Given the description of an element on the screen output the (x, y) to click on. 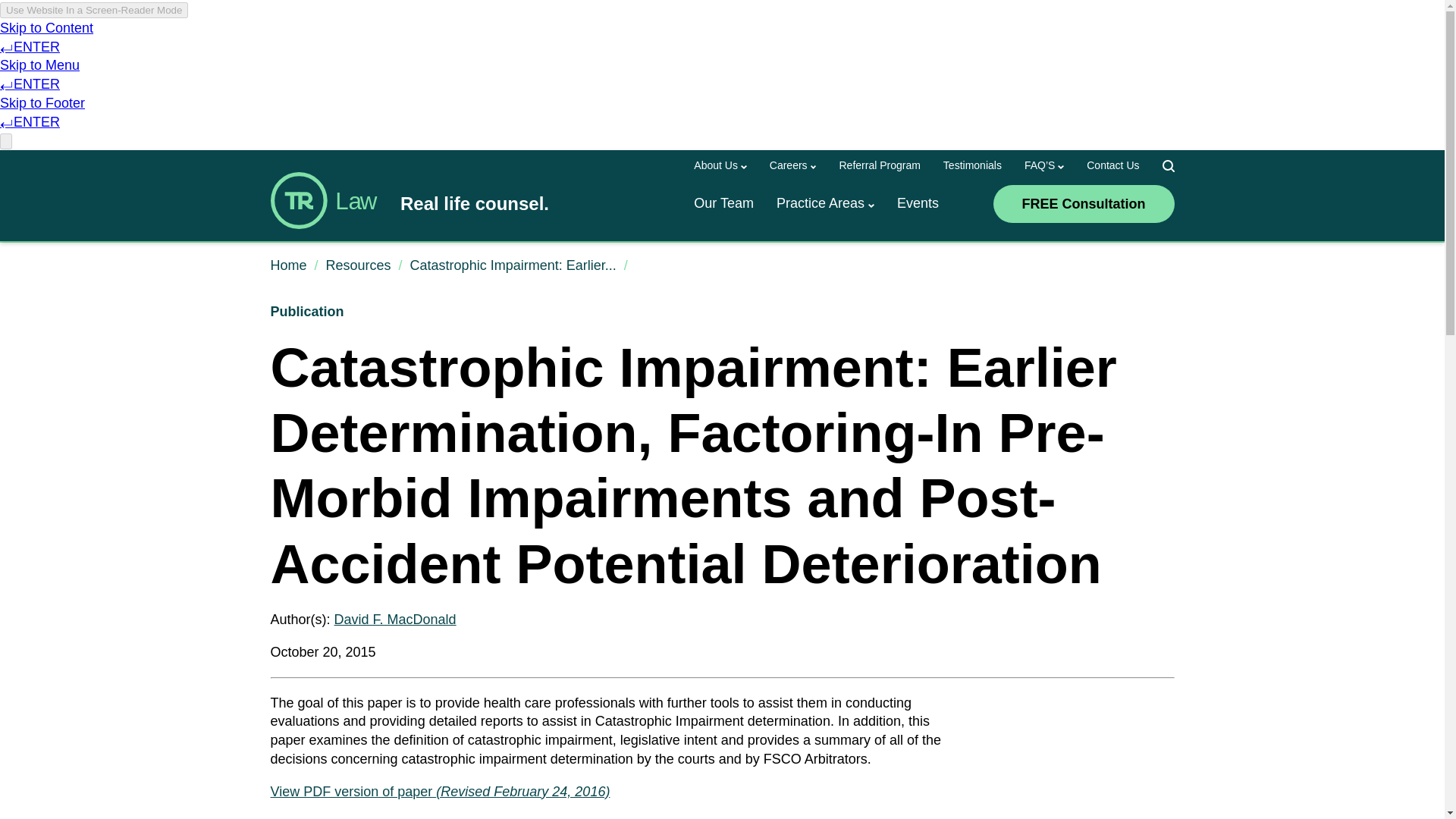
Events (917, 202)
About Us (716, 164)
Practice Areas (820, 202)
Our Team (724, 202)
